Given the description of an element on the screen output the (x, y) to click on. 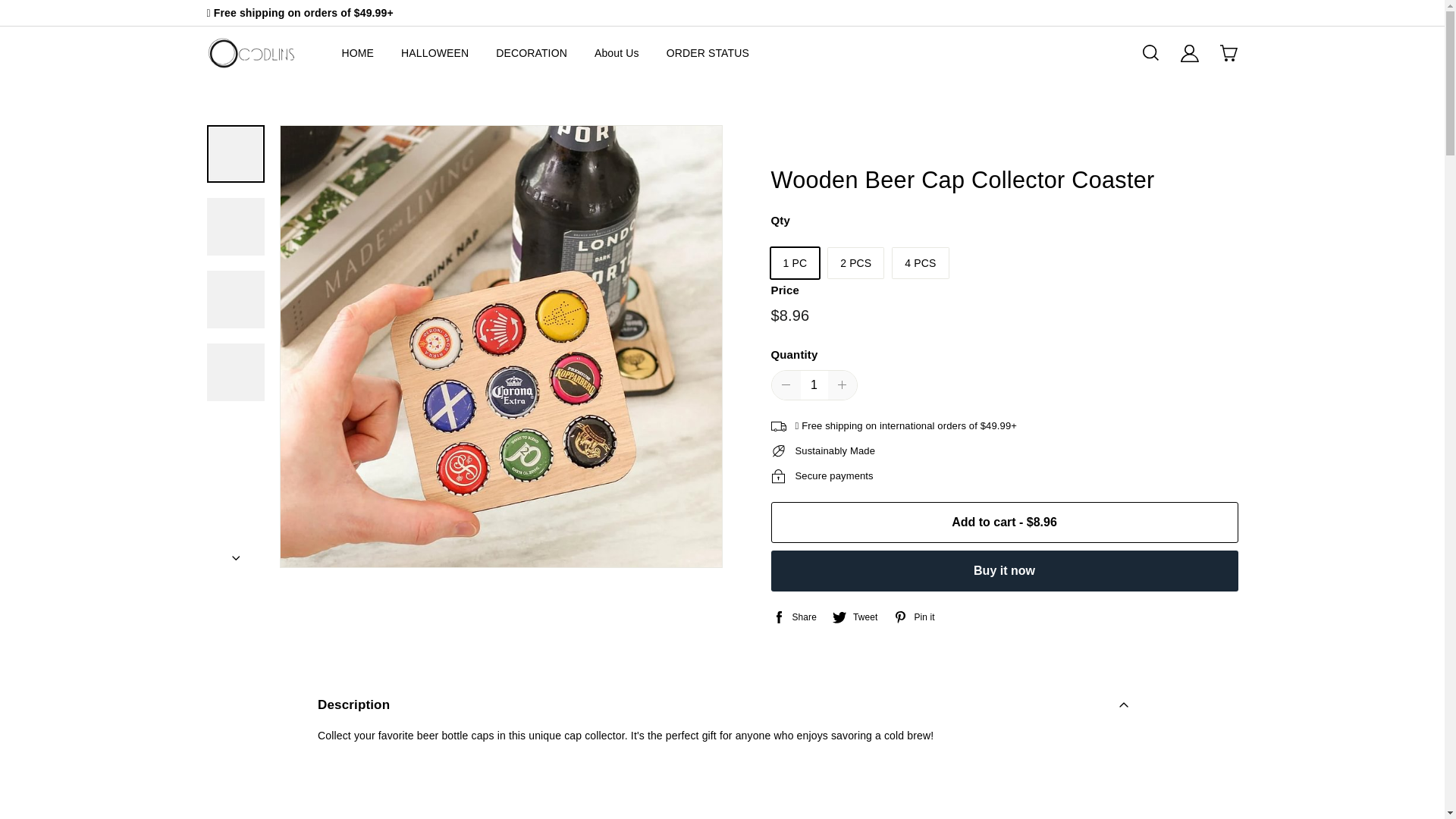
ORDER STATUS (707, 52)
DECORATION (531, 52)
1 (814, 385)
HALLOWEEN (434, 52)
About Us (616, 52)
